Given the description of an element on the screen output the (x, y) to click on. 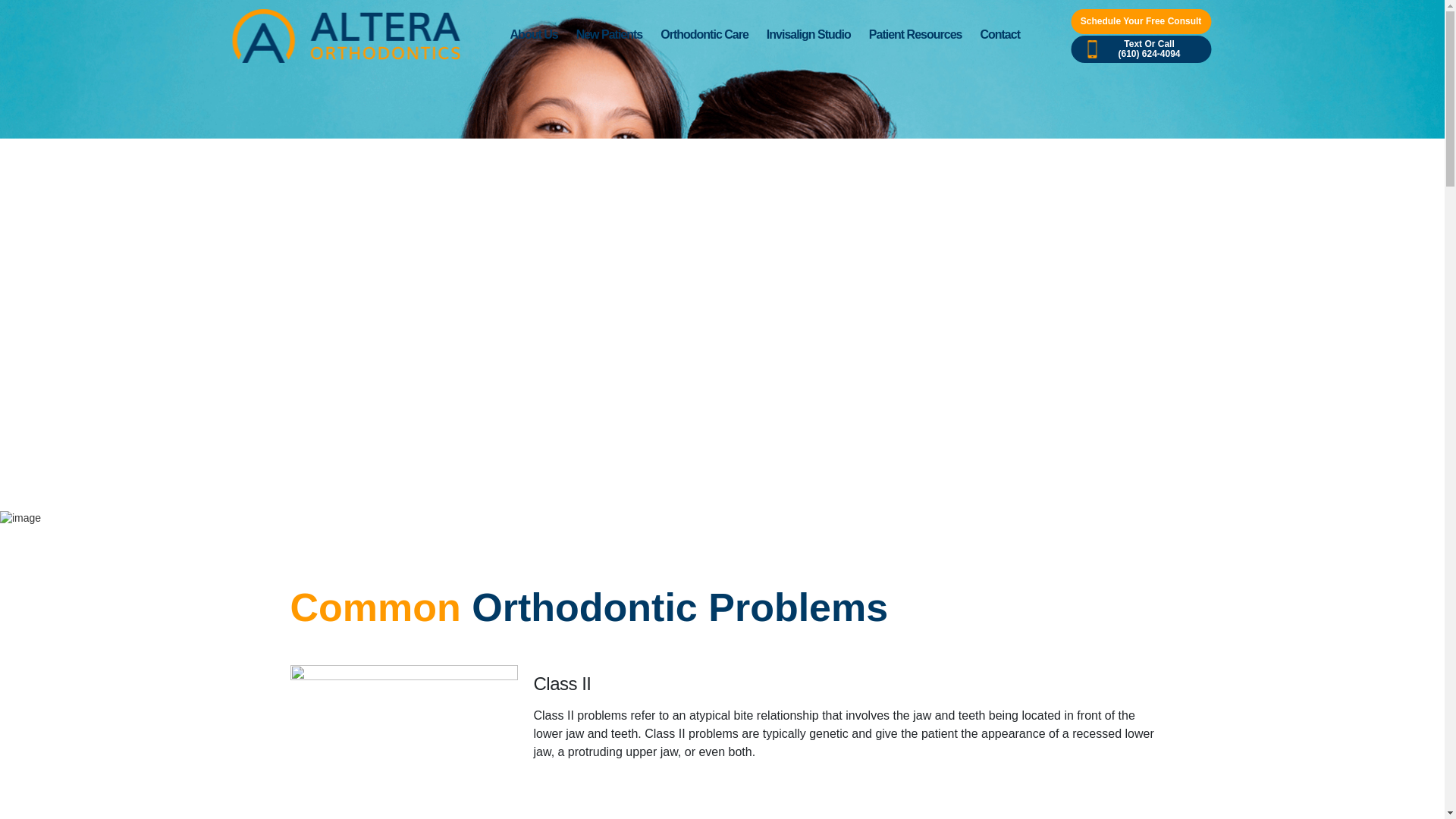
Invisalign Studio (808, 34)
About Us (533, 34)
Patient Resources (915, 34)
New Patients (609, 34)
Orthodontic Care (703, 34)
Schedule Your Free Consult (1140, 21)
